Given the description of an element on the screen output the (x, y) to click on. 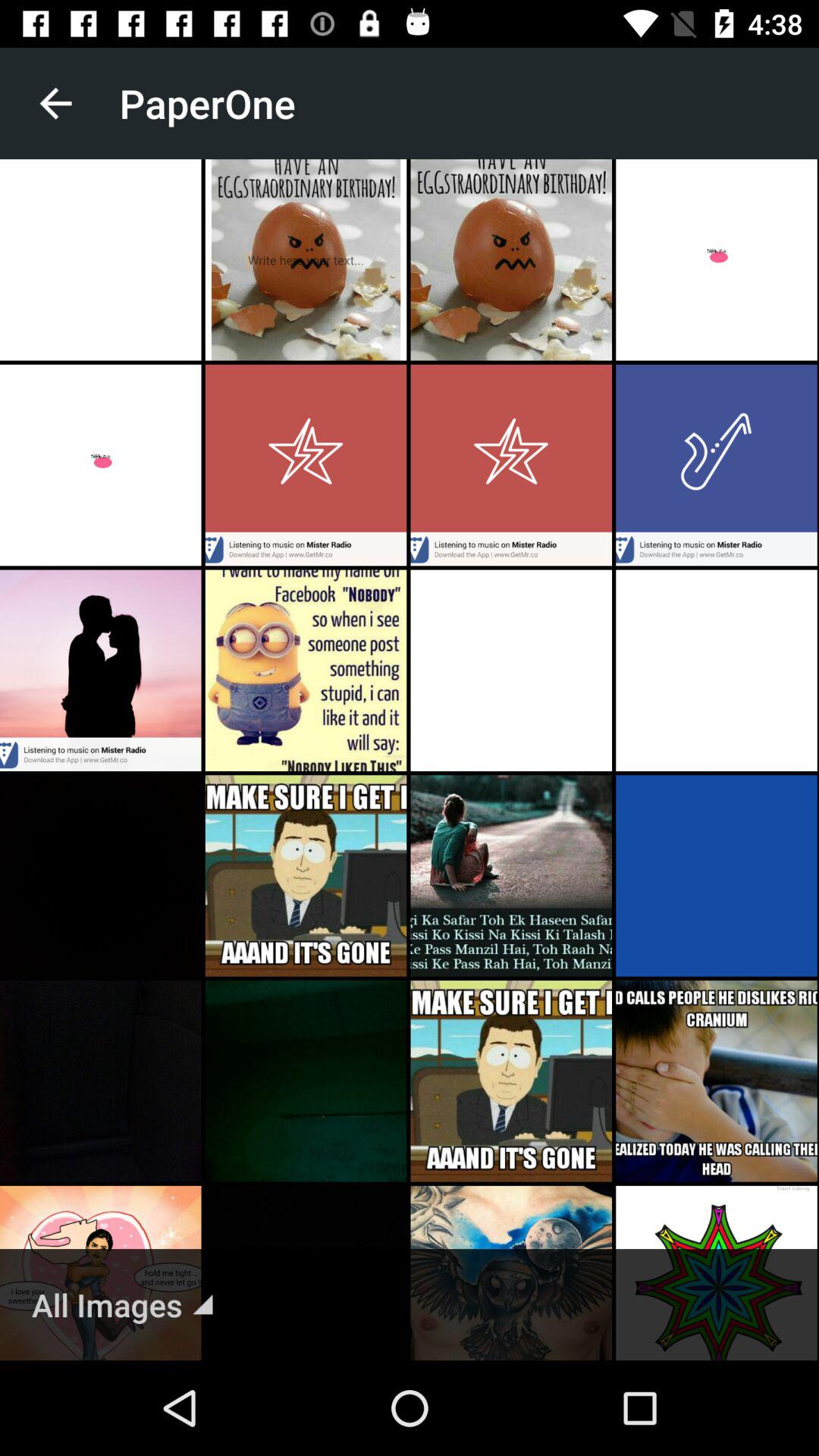
choose the item next to the paperone icon (55, 103)
